Given the description of an element on the screen output the (x, y) to click on. 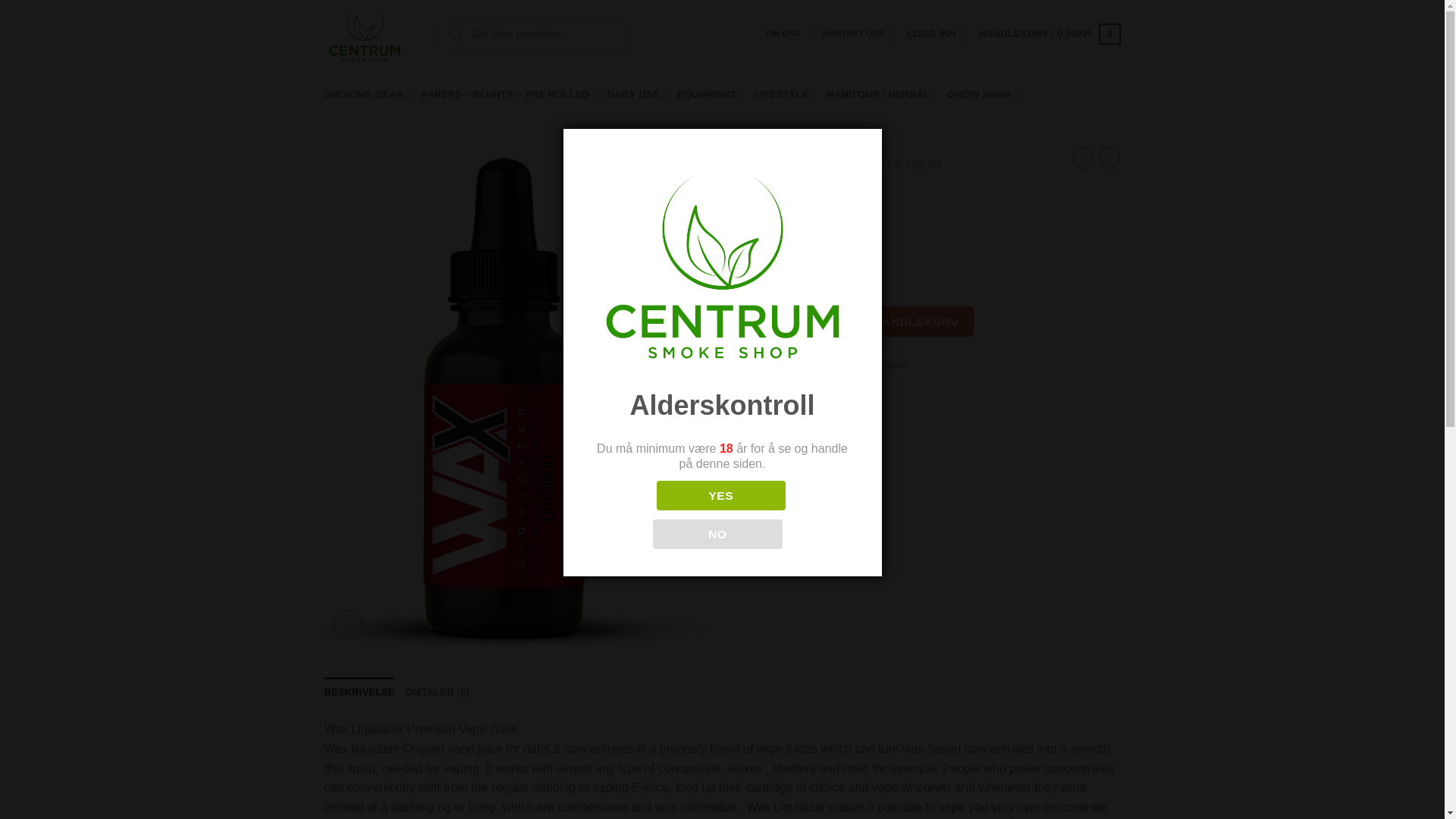
LOGG INN (931, 33)
DAILY USE (636, 94)
Share on Facebook (747, 422)
Email to a Friend (801, 422)
1 (765, 321)
Share on Twitter (774, 422)
EQUIPMENT (710, 94)
Pin on Pinterest (828, 422)
Zoom (347, 624)
OM OSS (782, 33)
Centrum Smoke Shop - Smoke Shop (370, 33)
Logg inn (931, 33)
LIFESTYLE (784, 94)
Handlekurv (1048, 34)
Share on LinkedIn (856, 422)
